Given the description of an element on the screen output the (x, y) to click on. 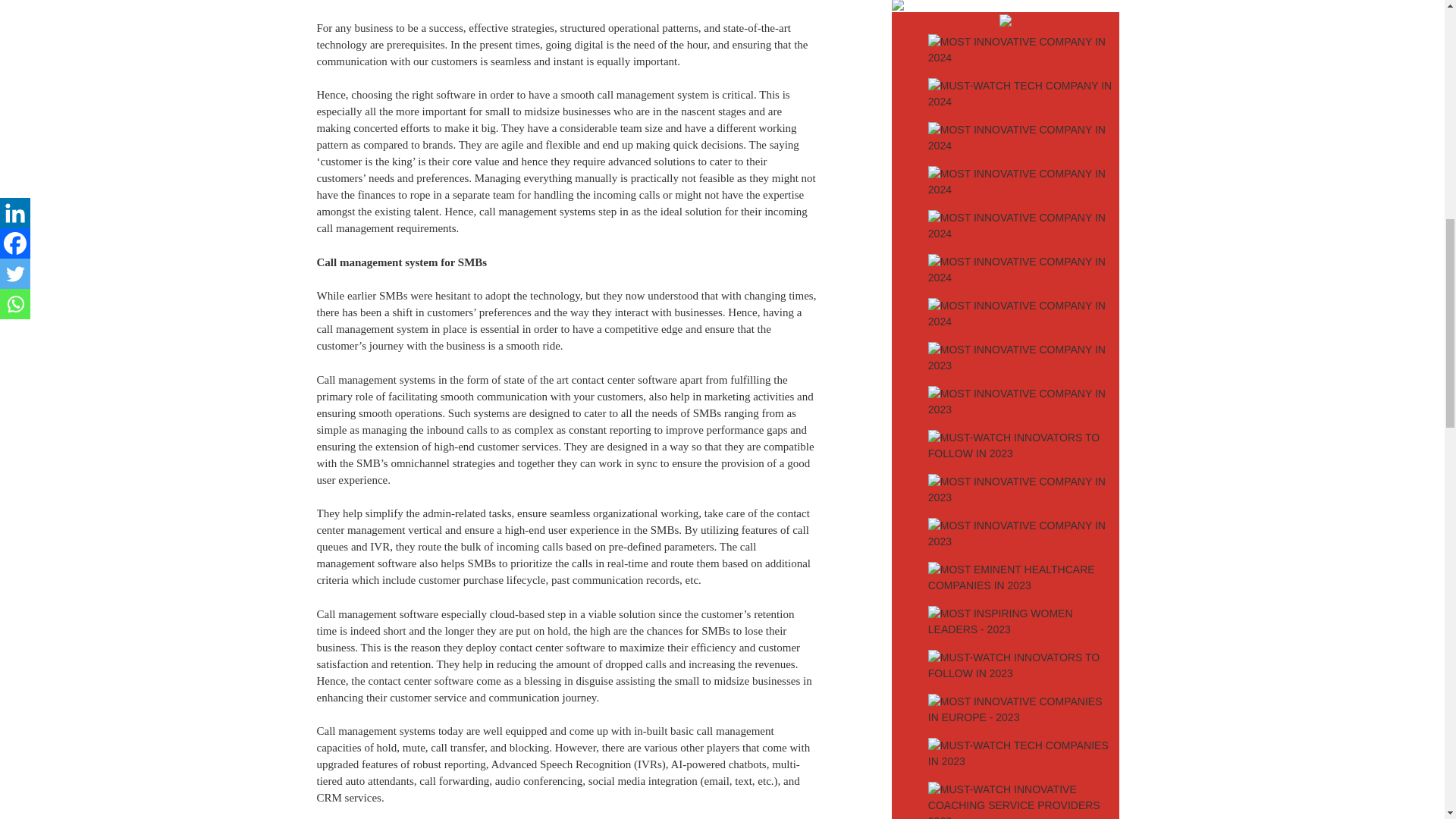
MOST INNOVATIVE COMPANY IN 2024 (1020, 181)
MUST-WATCH TECH COMPANY IN 2024 (1020, 93)
MOST INNOVATIVE COMPANY IN 2024 (1020, 225)
MOST INNOVATIVE COMPANY IN 2024 (1020, 49)
MOST INNOVATIVE COMPANY IN 2024 (1020, 137)
MOST INNOVATIVE COMPANY IN 2024 (1020, 269)
